Given the description of an element on the screen output the (x, y) to click on. 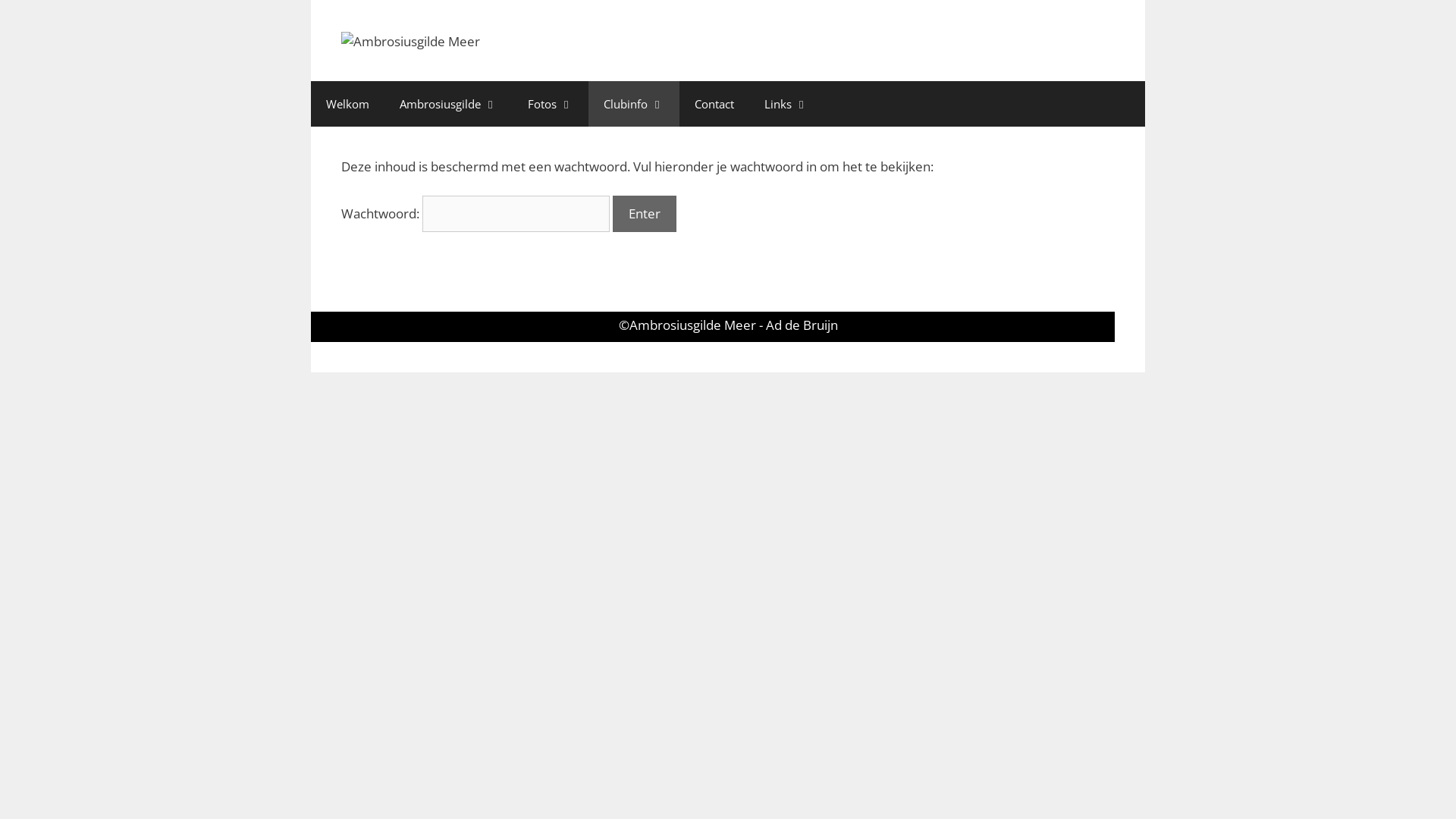
Ambrosiusgilde Element type: text (448, 103)
Enter Element type: text (644, 213)
Welkom Element type: text (347, 103)
Links Element type: text (786, 103)
Clubinfo Element type: text (633, 103)
Contact Element type: text (714, 103)
Fotos Element type: text (550, 103)
